Given the description of an element on the screen output the (x, y) to click on. 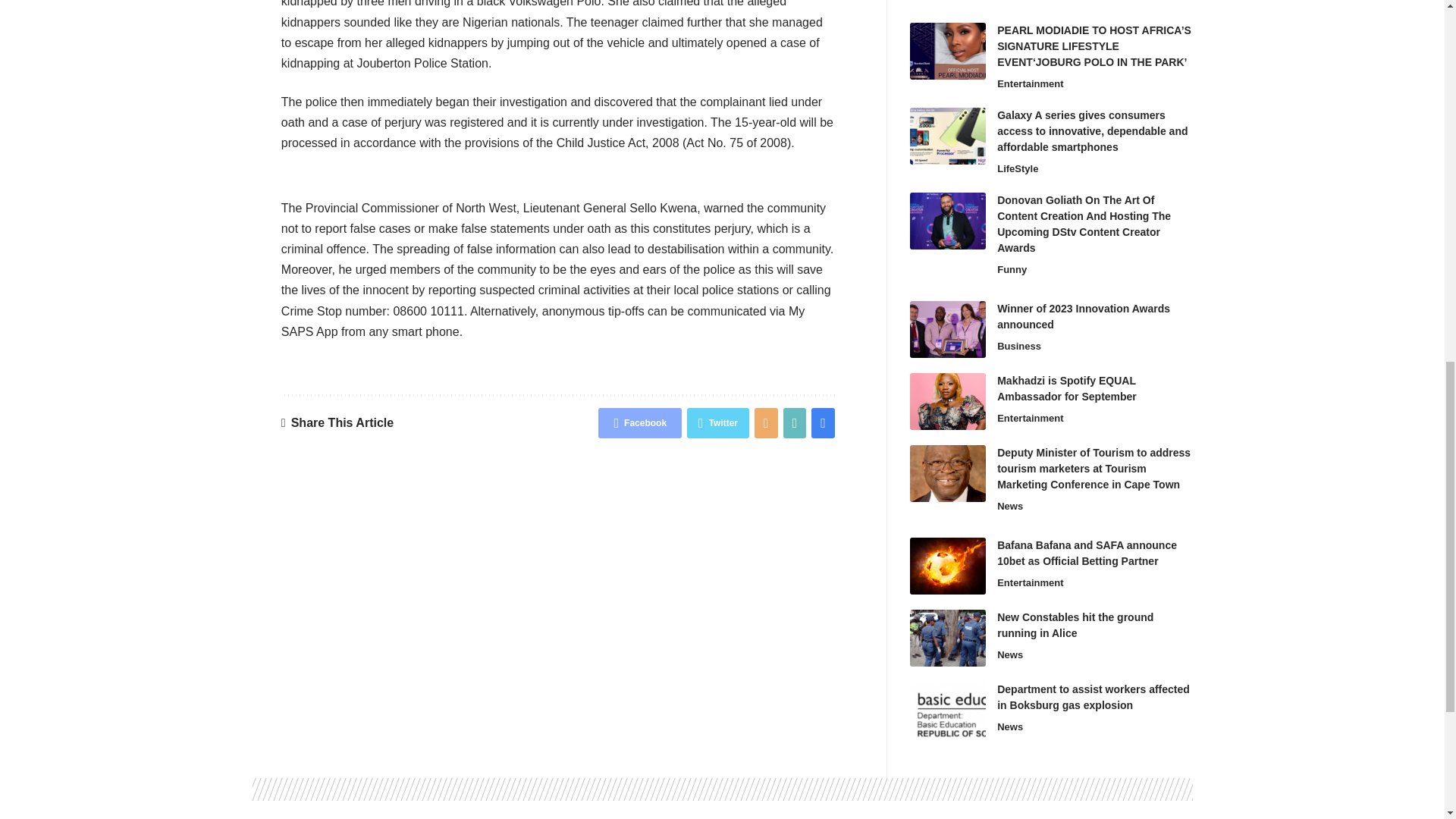
Winner of 2023 Innovation Awards announced (947, 329)
